Given the description of an element on the screen output the (x, y) to click on. 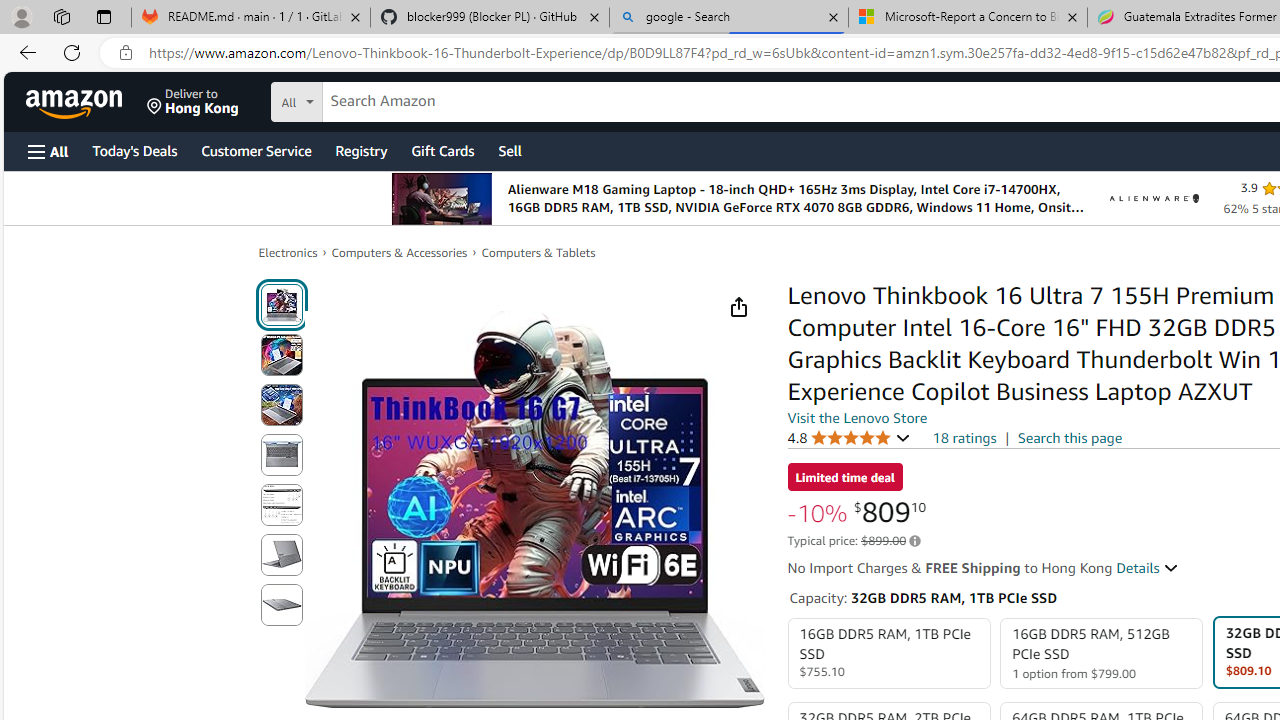
google - Search (729, 17)
Electronics (287, 251)
Computers & Accessories (399, 251)
Gift Cards (442, 150)
Microsoft-Report a Concern to Bing (967, 17)
Learn more about Amazon pricing and savings (914, 541)
Deliver to Hong Kong (193, 101)
Logo (1153, 198)
Search this page (1069, 437)
Computers & Accessories (399, 252)
Electronics (287, 252)
Registry (360, 150)
